Given the description of an element on the screen output the (x, y) to click on. 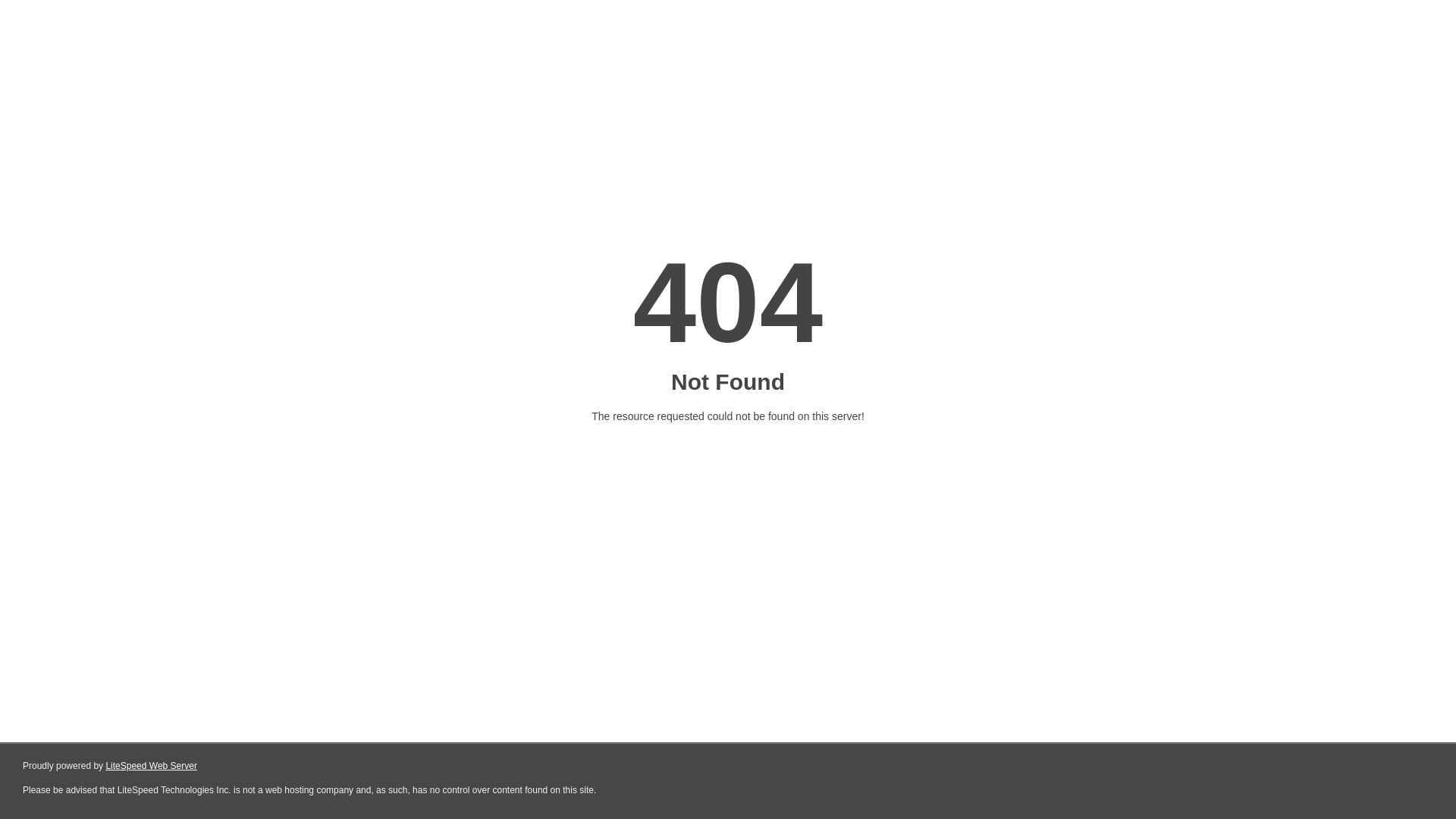
LiteSpeed Web Server Element type: text (151, 765)
